Given the description of an element on the screen output the (x, y) to click on. 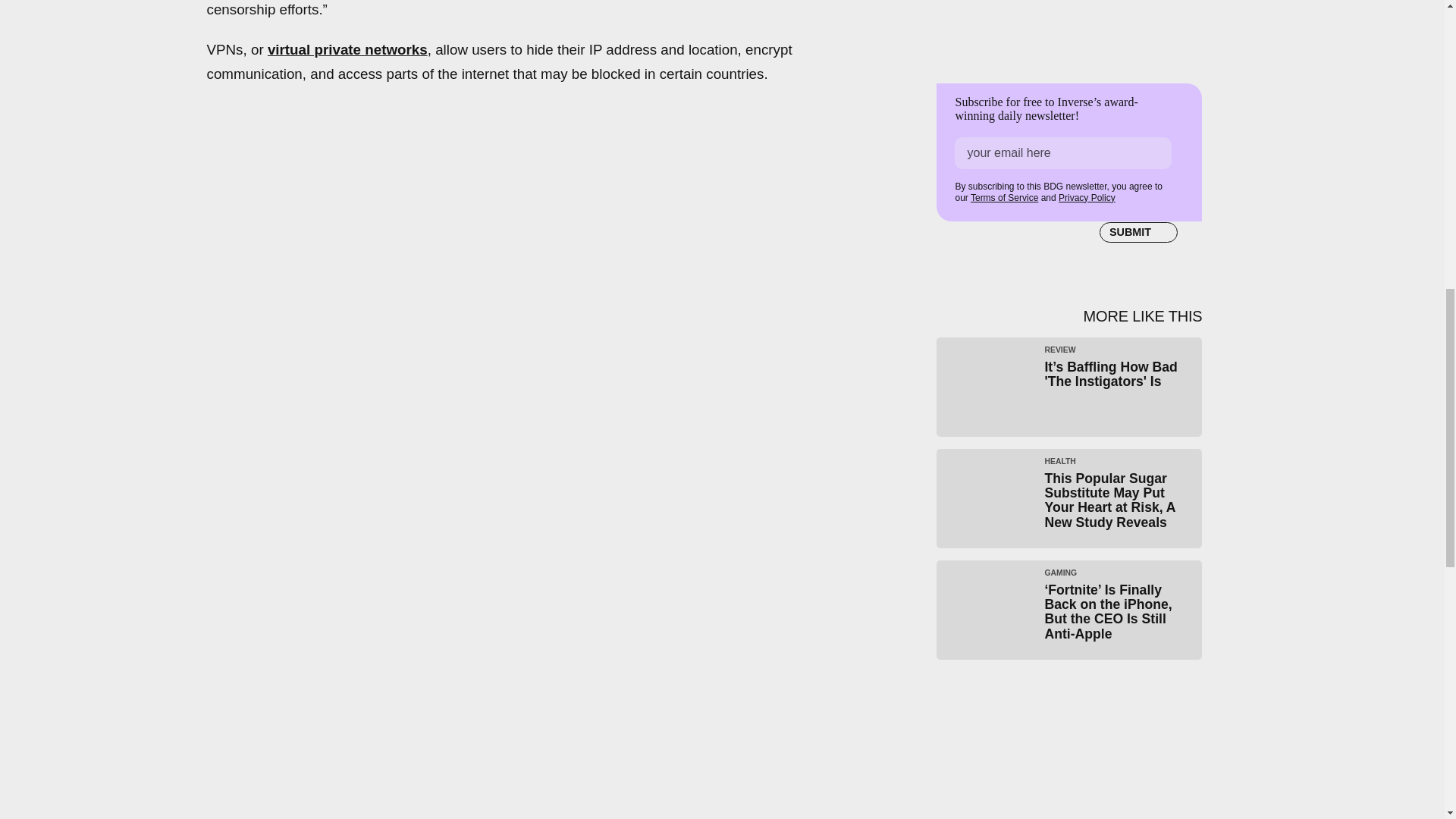
virtual private networks (347, 49)
SUBMIT (1138, 231)
Terms of Service (1004, 197)
Privacy Policy (1086, 197)
